Given the description of an element on the screen output the (x, y) to click on. 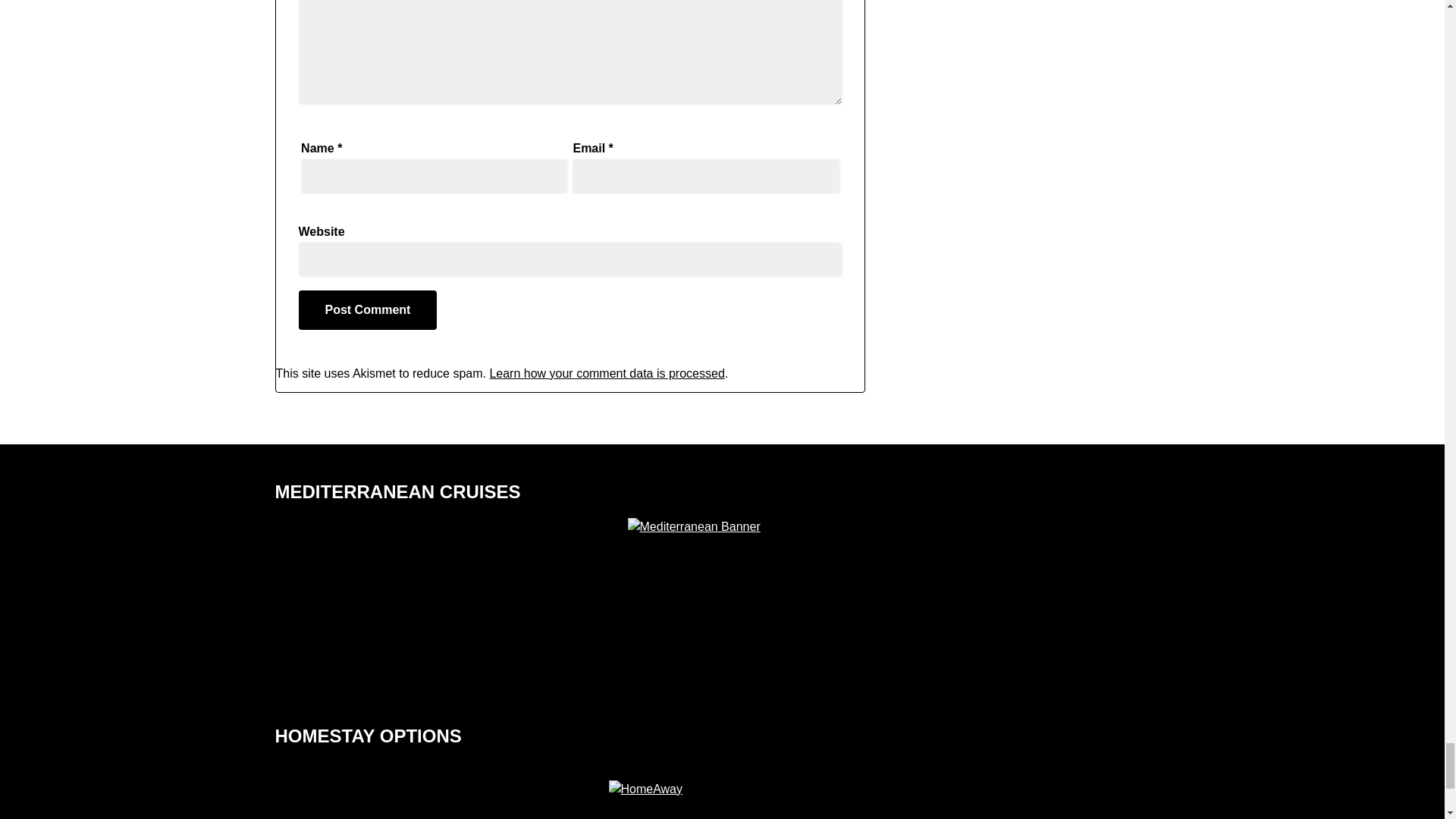
Post Comment (368, 310)
